Given the description of an element on the screen output the (x, y) to click on. 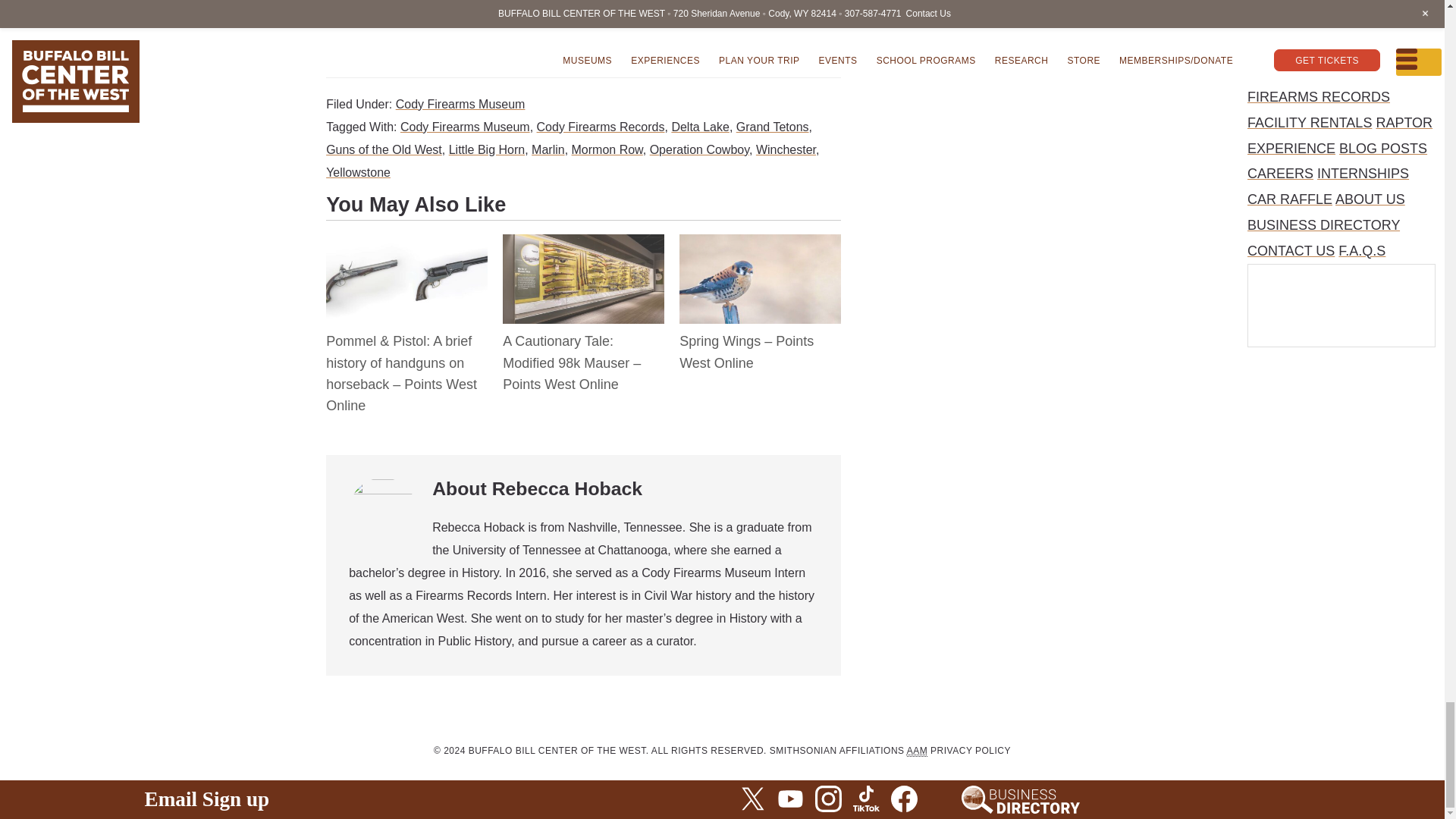
The American Alliance of Museums (917, 750)
